Given the description of an element on the screen output the (x, y) to click on. 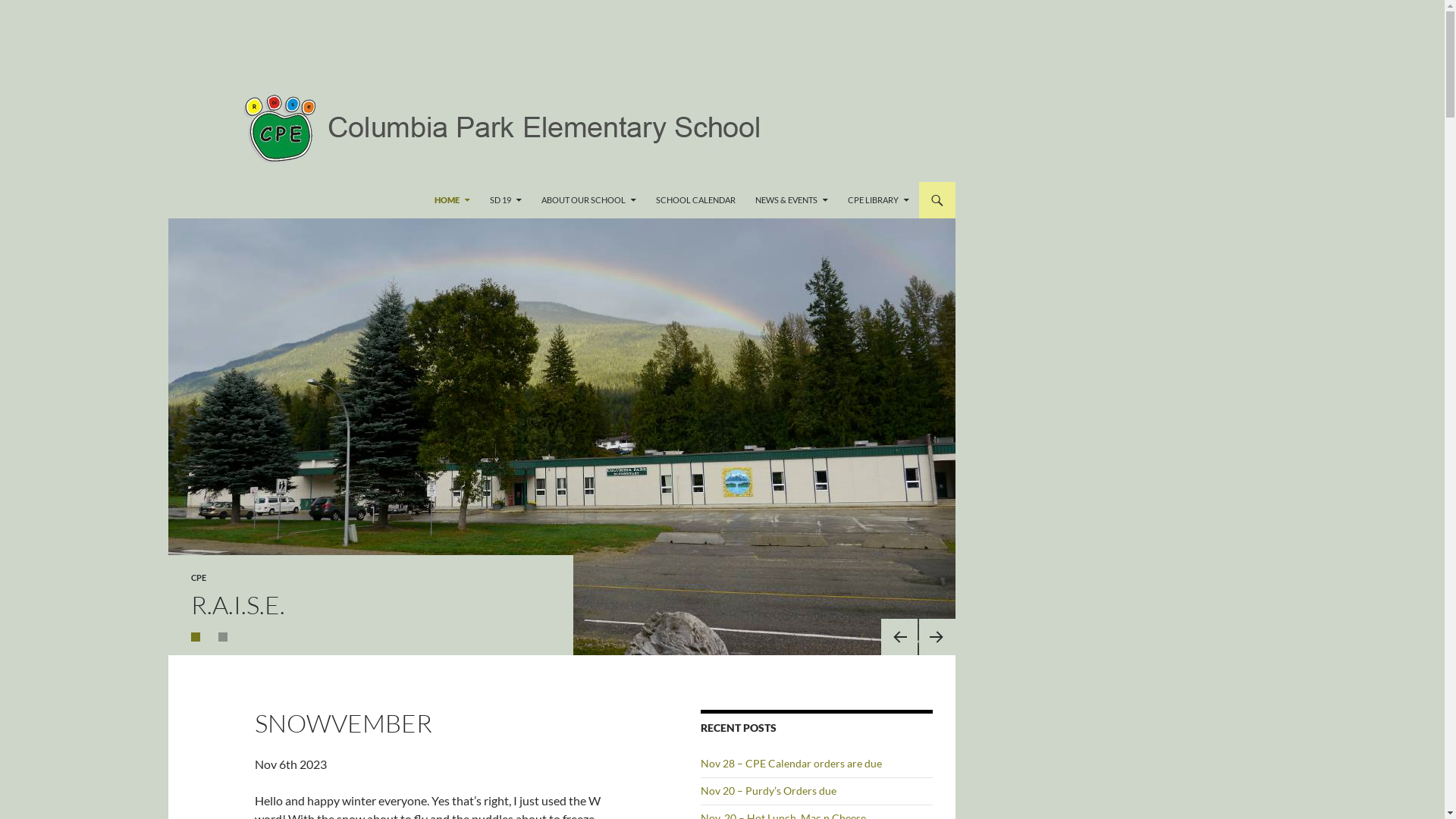
1 Element type: text (195, 636)
Search Element type: text (29, 9)
2 Element type: text (222, 636)
SCHOOL CALENDAR Element type: text (695, 200)
SKIP TO CONTENT Element type: text (433, 181)
SD 19 Element type: text (505, 200)
HOME Element type: text (452, 200)
CPE Element type: text (198, 577)
Search Element type: text (3, 181)
Next Element type: text (937, 636)
R.A.I.S.E. Element type: text (238, 604)
Previous Element type: text (899, 636)
CPE LIBRARY Element type: text (878, 200)
https://columbiapark.sd19.bc.ca Element type: text (118, 200)
ABOUT OUR SCHOOL Element type: text (588, 200)
NEWS & EVENTS Element type: text (791, 200)
